Given the description of an element on the screen output the (x, y) to click on. 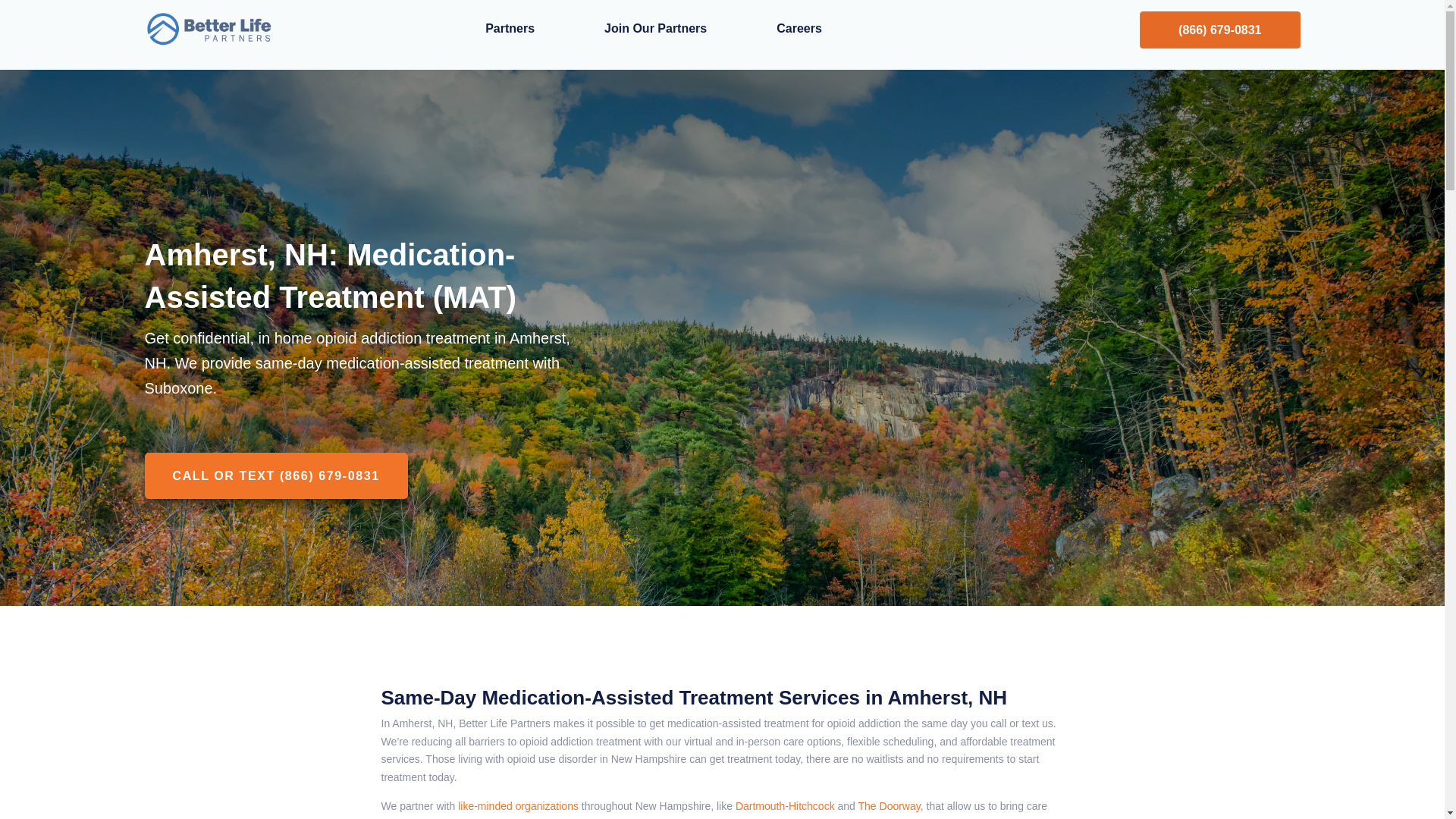
Partners (509, 28)
Dartmouth-Hitchcock (784, 806)
Careers (798, 28)
like-minded organizations (516, 806)
The Doorway (889, 806)
Join Our Partners (655, 28)
